Given the description of an element on the screen output the (x, y) to click on. 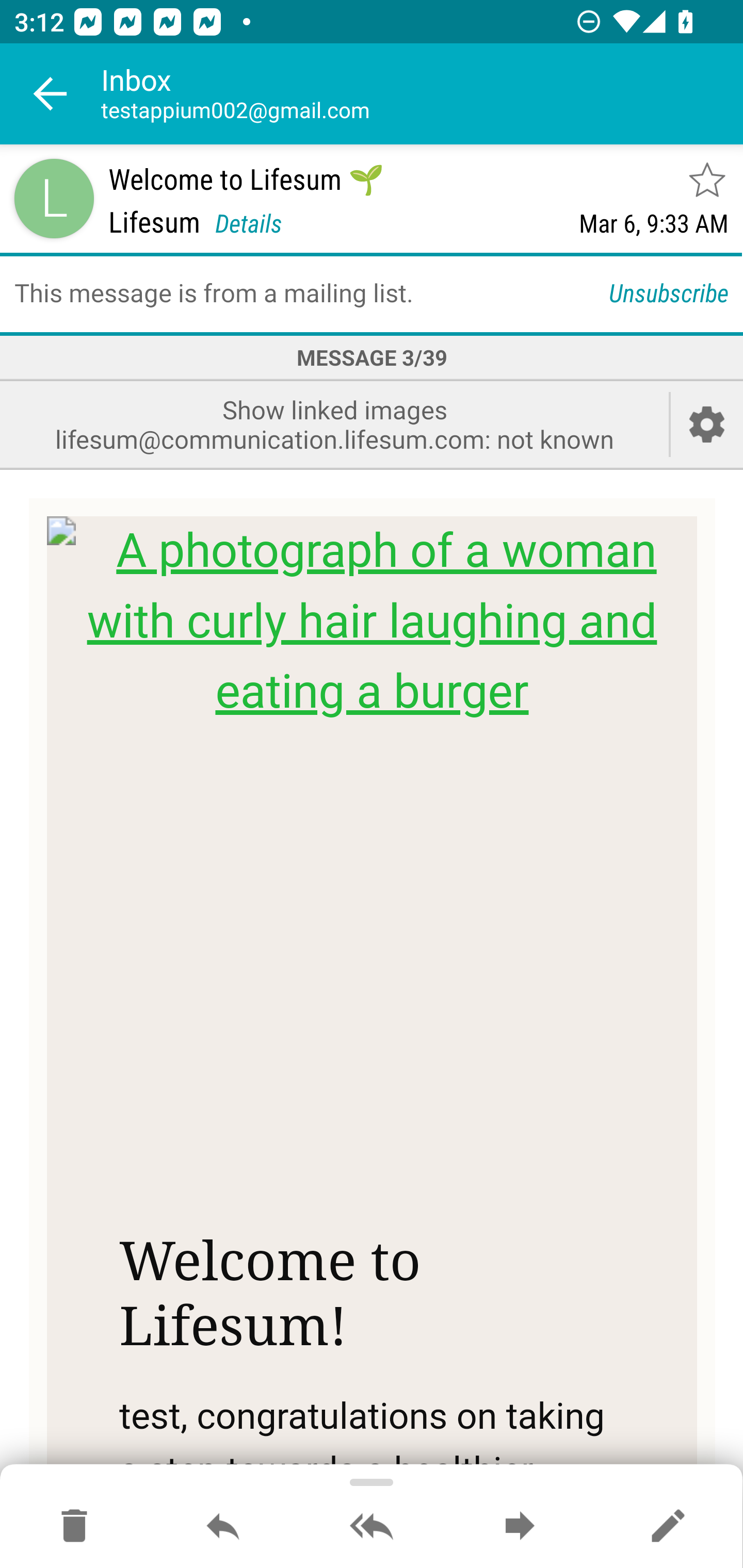
Navigate up (50, 93)
Inbox testappium002@gmail.com (422, 93)
Sender contact button (53, 198)
Unsubscribe (668, 292)
Account setup (706, 424)
Move to Deleted (74, 1527)
Reply (222, 1527)
Reply all (371, 1527)
Forward (519, 1527)
Reply as new (667, 1527)
